Given the description of an element on the screen output the (x, y) to click on. 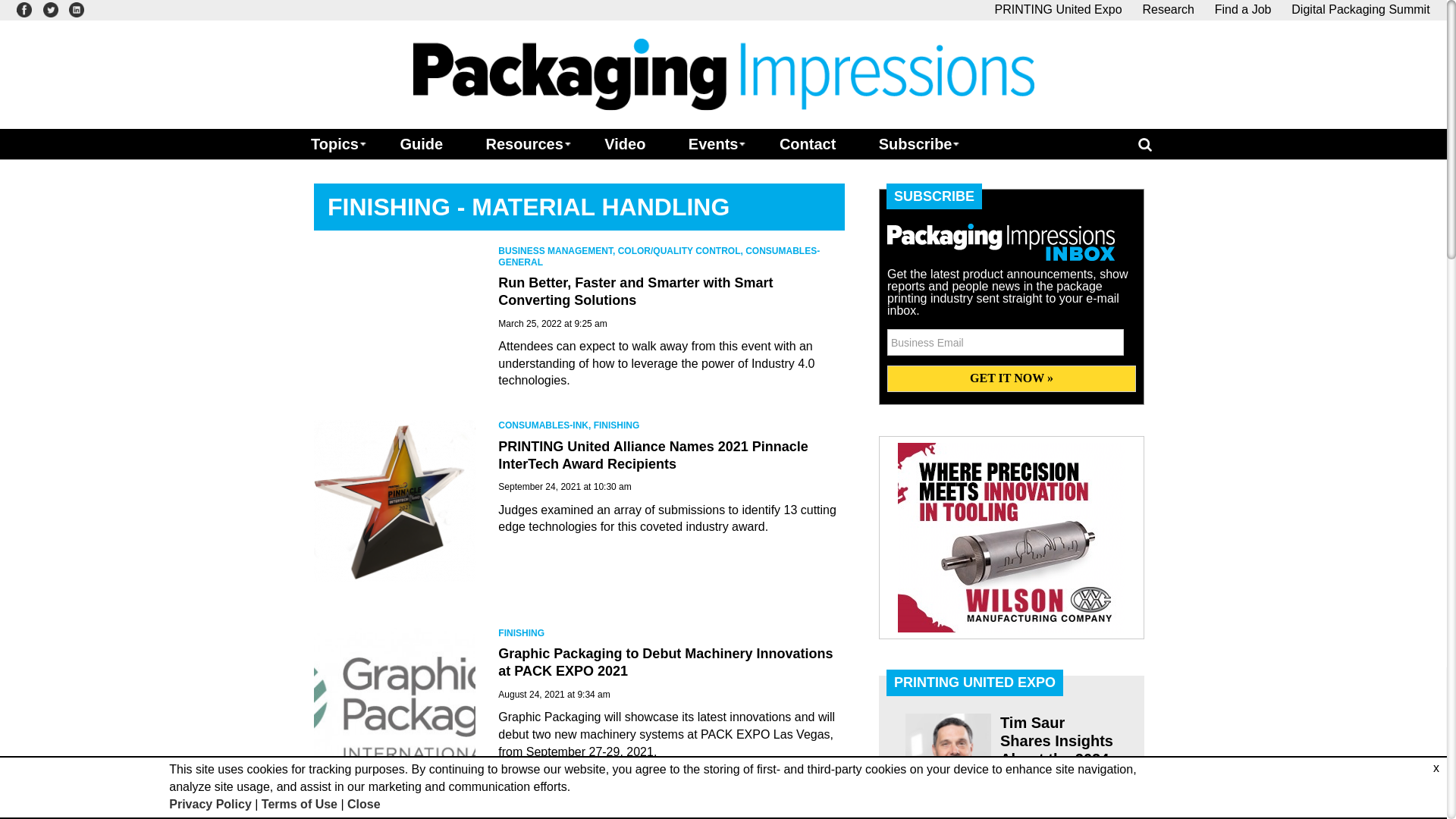
PRINTING United Expo (1058, 9)
Research (1167, 9)
Resources (523, 143)
Opens in a new window (50, 9)
Opens in a new window (24, 9)
Video (624, 143)
Opens in a new window (1058, 9)
Contact (807, 143)
Digital Packaging Summit (1360, 9)
Events (712, 143)
Guide (420, 143)
3rd party ad content (1011, 537)
Find a Job (1242, 9)
Opens in a new window (1360, 9)
Opens in a new window (76, 9)
